Given the description of an element on the screen output the (x, y) to click on. 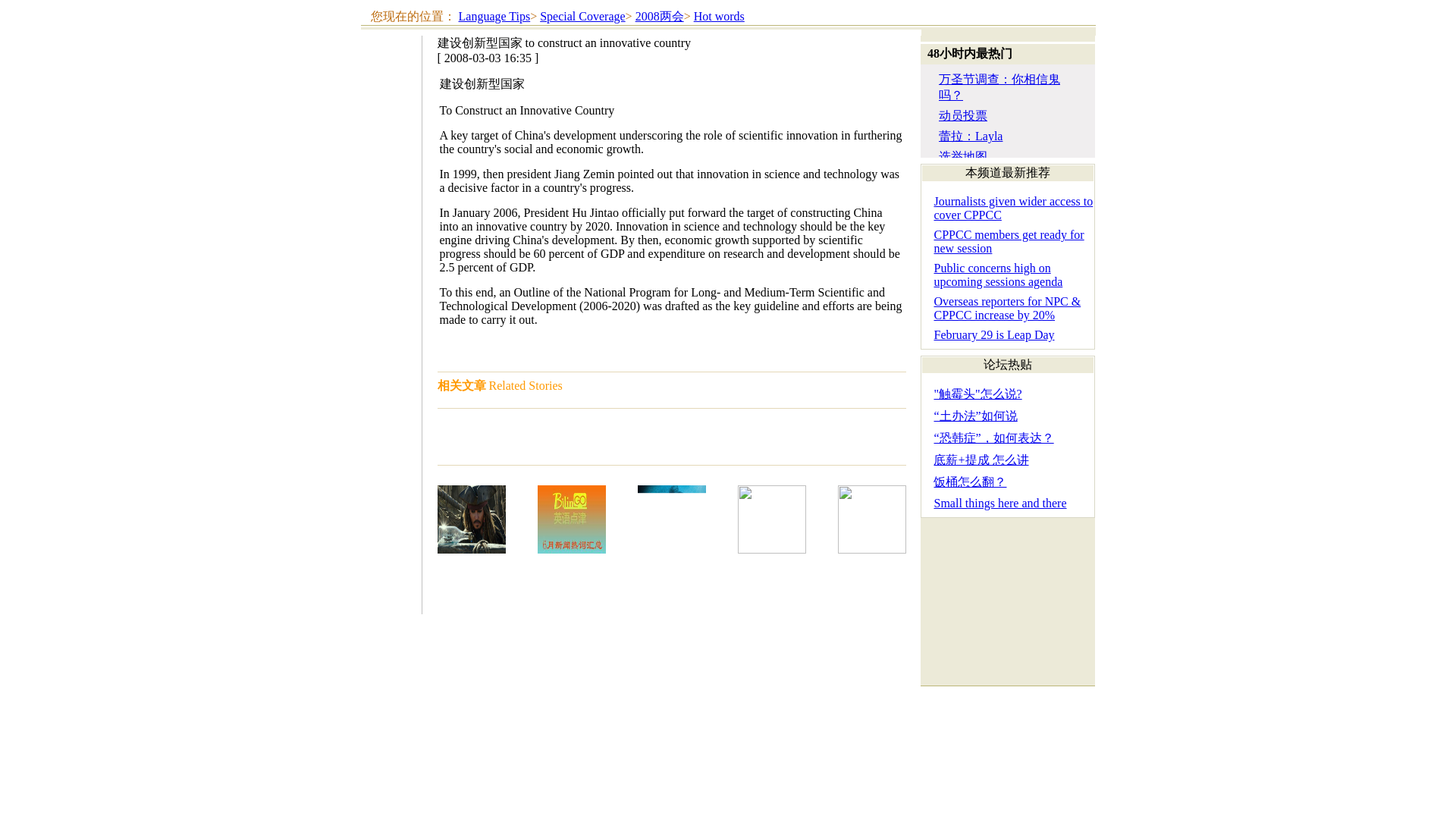
Language Tips (493, 15)
Hot words (719, 15)
Special Coverage (582, 15)
Journalists given wider access to cover CPPCC (1013, 207)
February 29 is Leap Day (993, 334)
CPPCC members get ready for new session (1008, 241)
Public concerns high on upcoming sessions agenda (997, 274)
Small things here and there (999, 502)
